Given the description of an element on the screen output the (x, y) to click on. 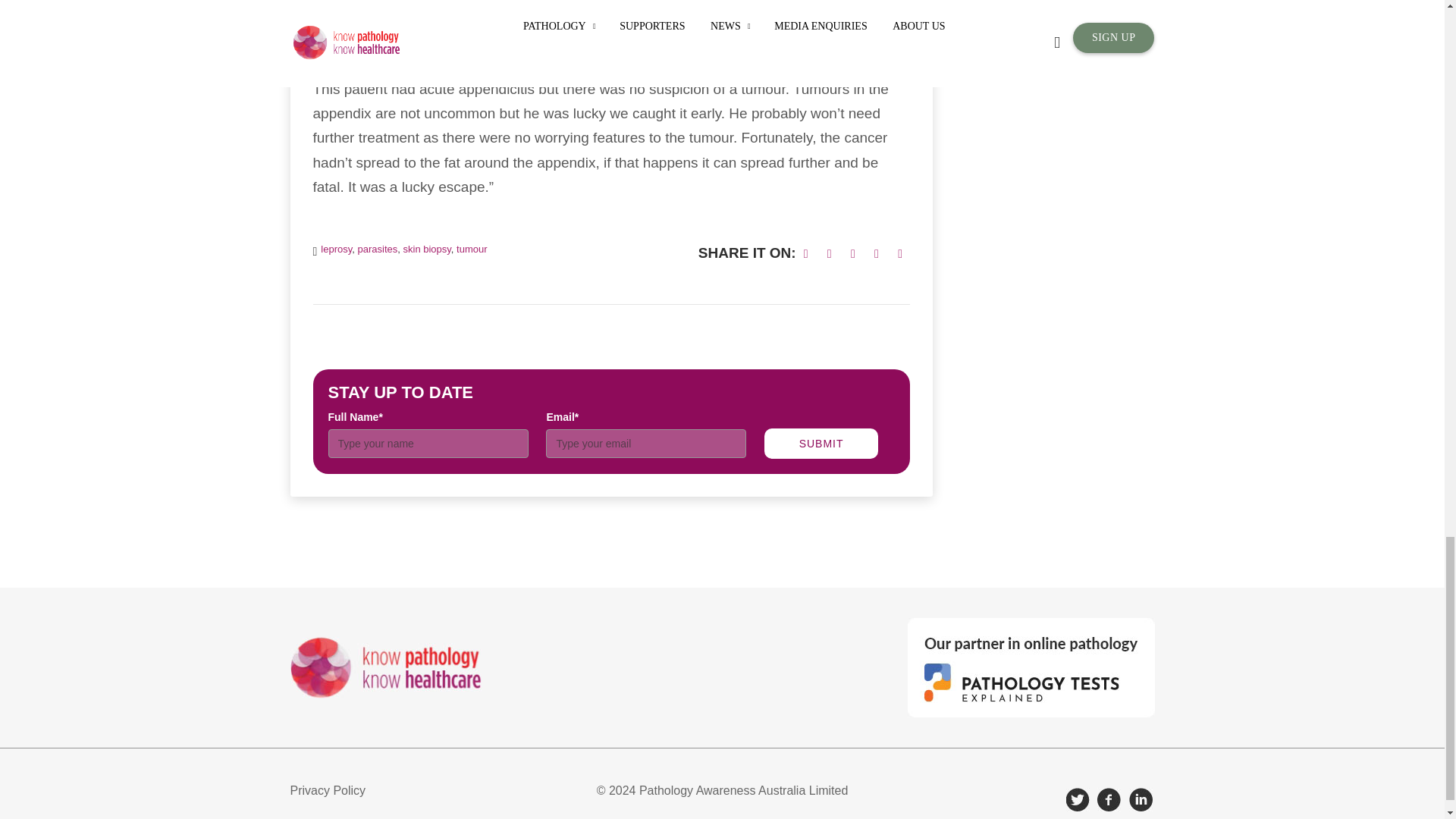
tumour (471, 248)
parasites (377, 248)
leprosy (336, 248)
skin biopsy (427, 248)
